Given the description of an element on the screen output the (x, y) to click on. 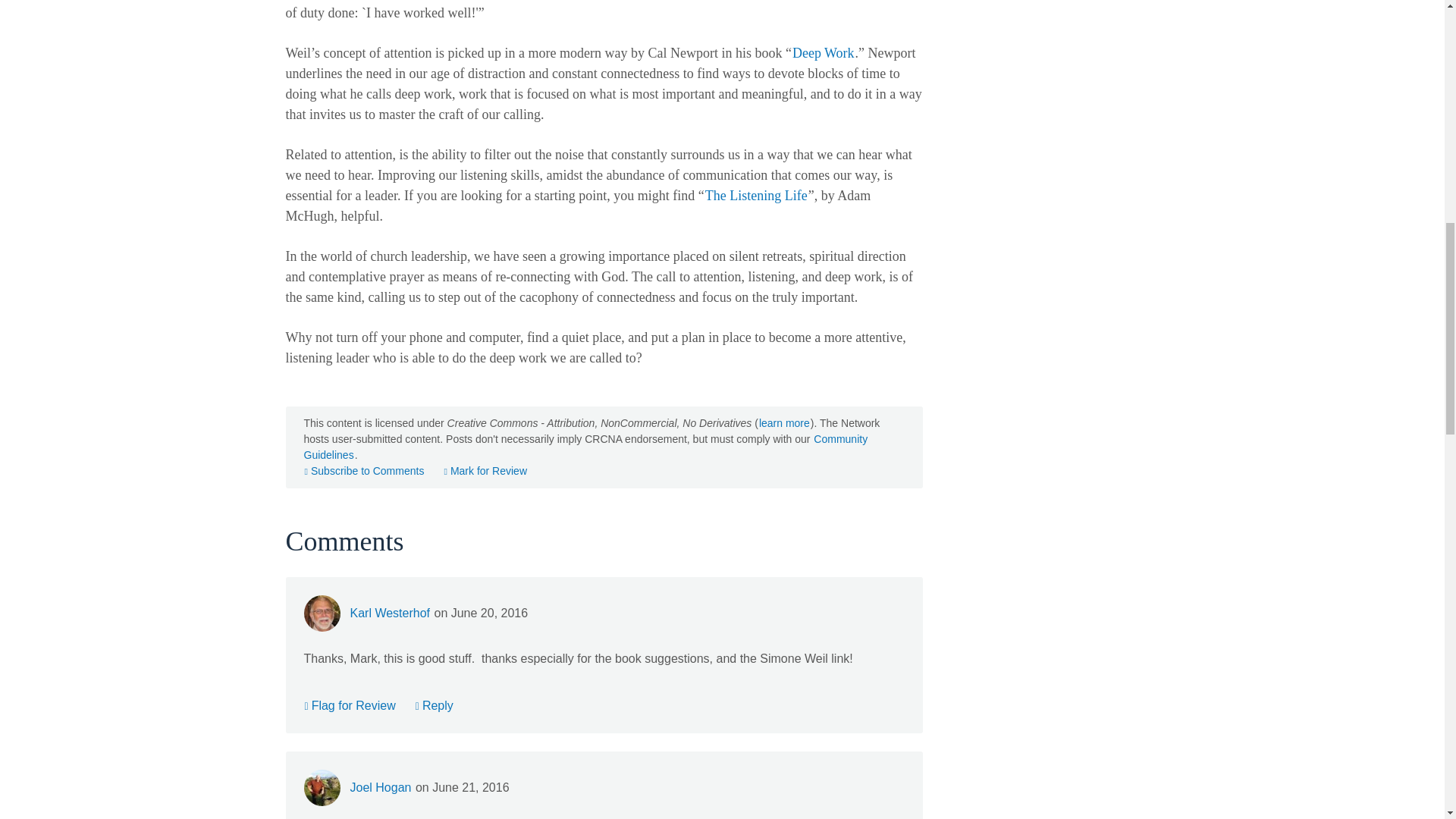
The Listening Life (756, 195)
View user profile. (380, 787)
Flag for Review (349, 705)
Reply (434, 705)
Mark for Review (484, 470)
learn more (784, 422)
Deep Work (824, 53)
Community Guidelines (584, 446)
Subscribe to Comments (363, 470)
View user profile. (389, 612)
Karl Westerhof (389, 612)
Joel Hogan (380, 787)
